Given the description of an element on the screen output the (x, y) to click on. 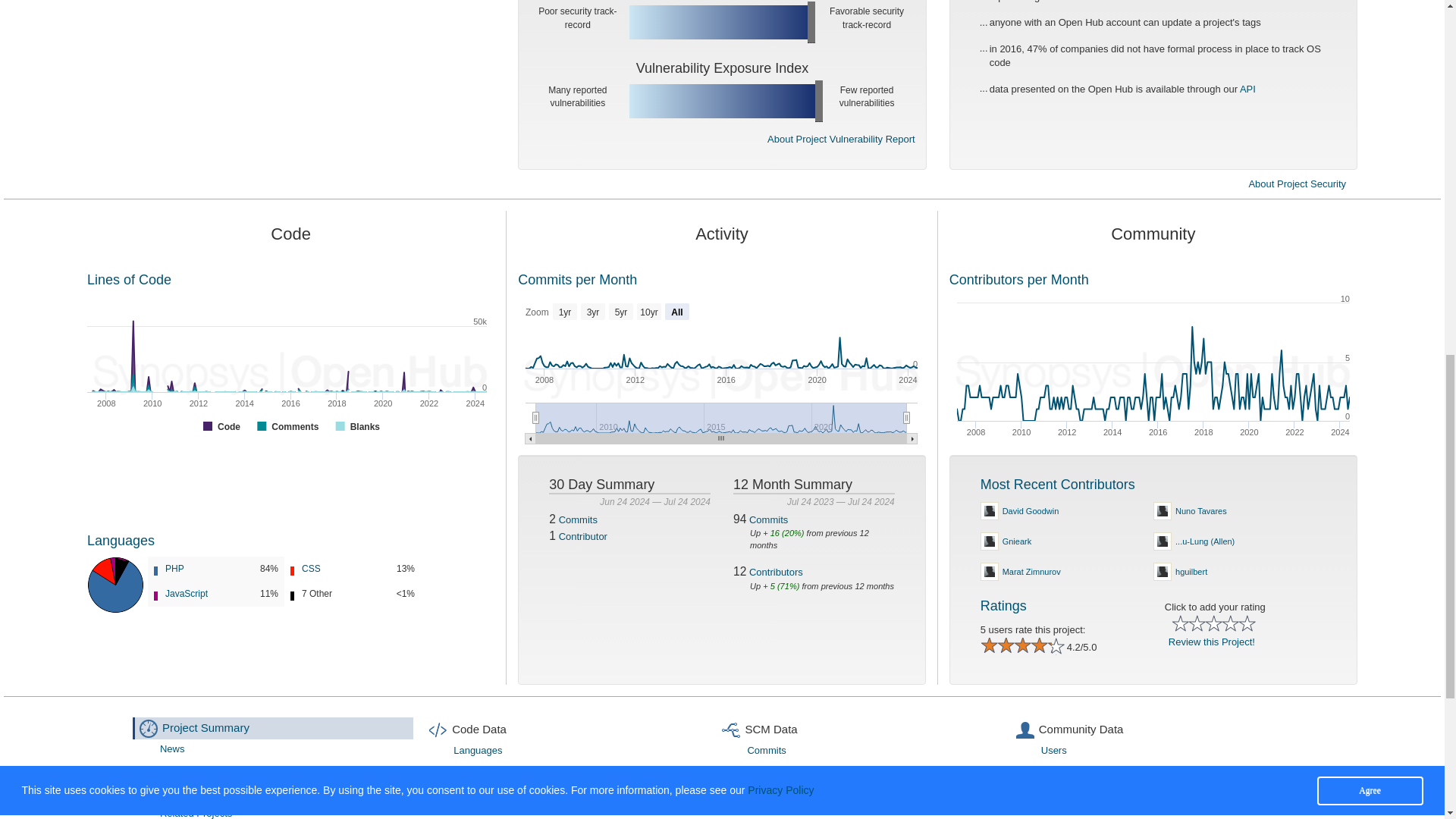
Marat Zimnurov (1075, 571)
Gnieark (1075, 541)
Nuno Tavares (1152, 371)
David Goodwin (1249, 511)
hguilbert (1075, 511)
